Given the description of an element on the screen output the (x, y) to click on. 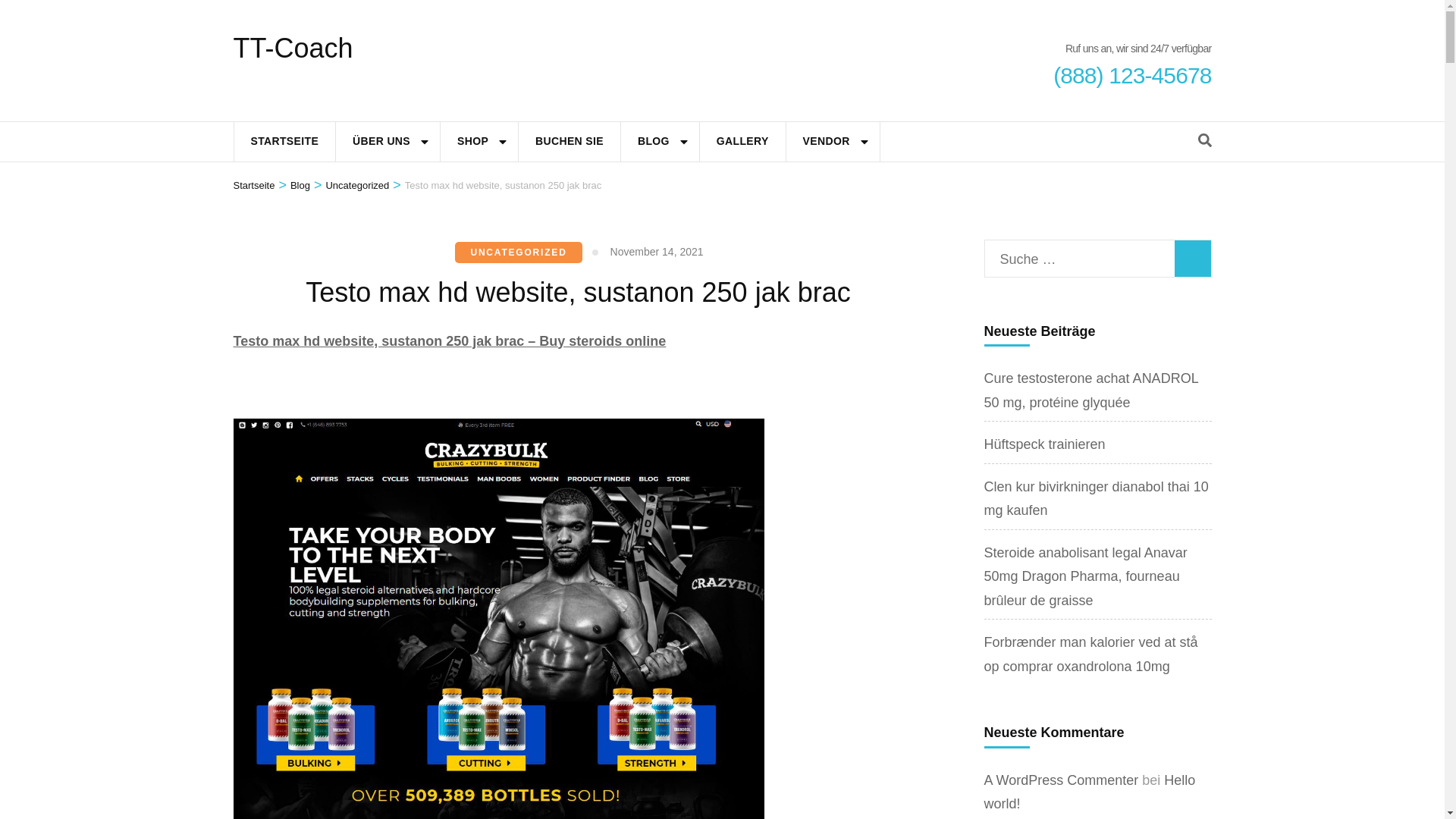
Suche (1191, 258)
Suche (1191, 258)
TT-Coach (292, 47)
STARTSEITE (283, 141)
SHOP (473, 141)
